Given the description of an element on the screen output the (x, y) to click on. 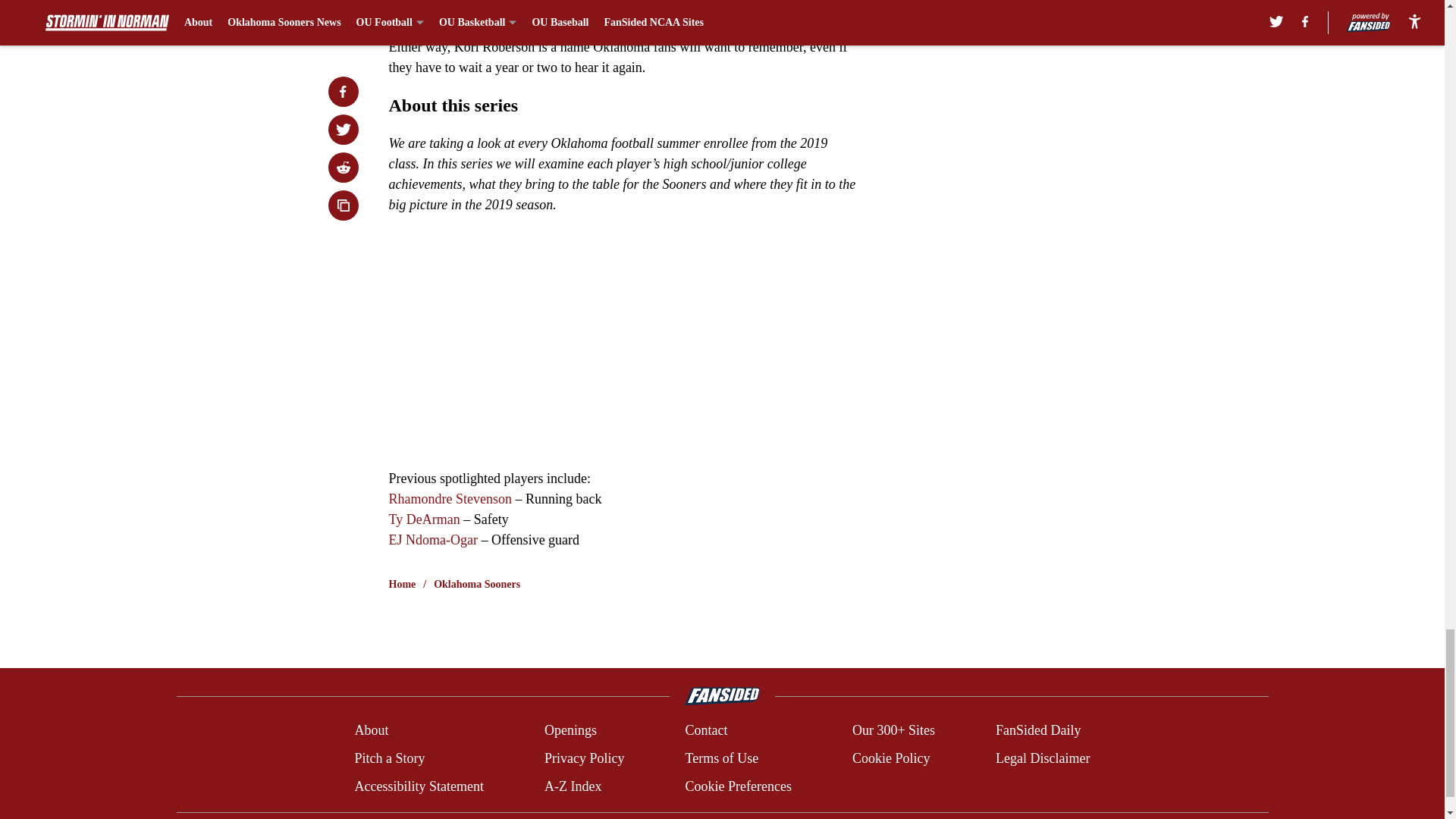
FanSided Daily (1038, 730)
Rhamondre Stevenson (449, 498)
EJ Ndoma-Ogar (432, 539)
NEXT: Oklahoma football: Help coming at defensive tackle? (623, 11)
Contact (705, 730)
Openings (570, 730)
Home (401, 584)
Ty DeArman  (425, 519)
Pitch a Story (389, 758)
About (370, 730)
